Given the description of an element on the screen output the (x, y) to click on. 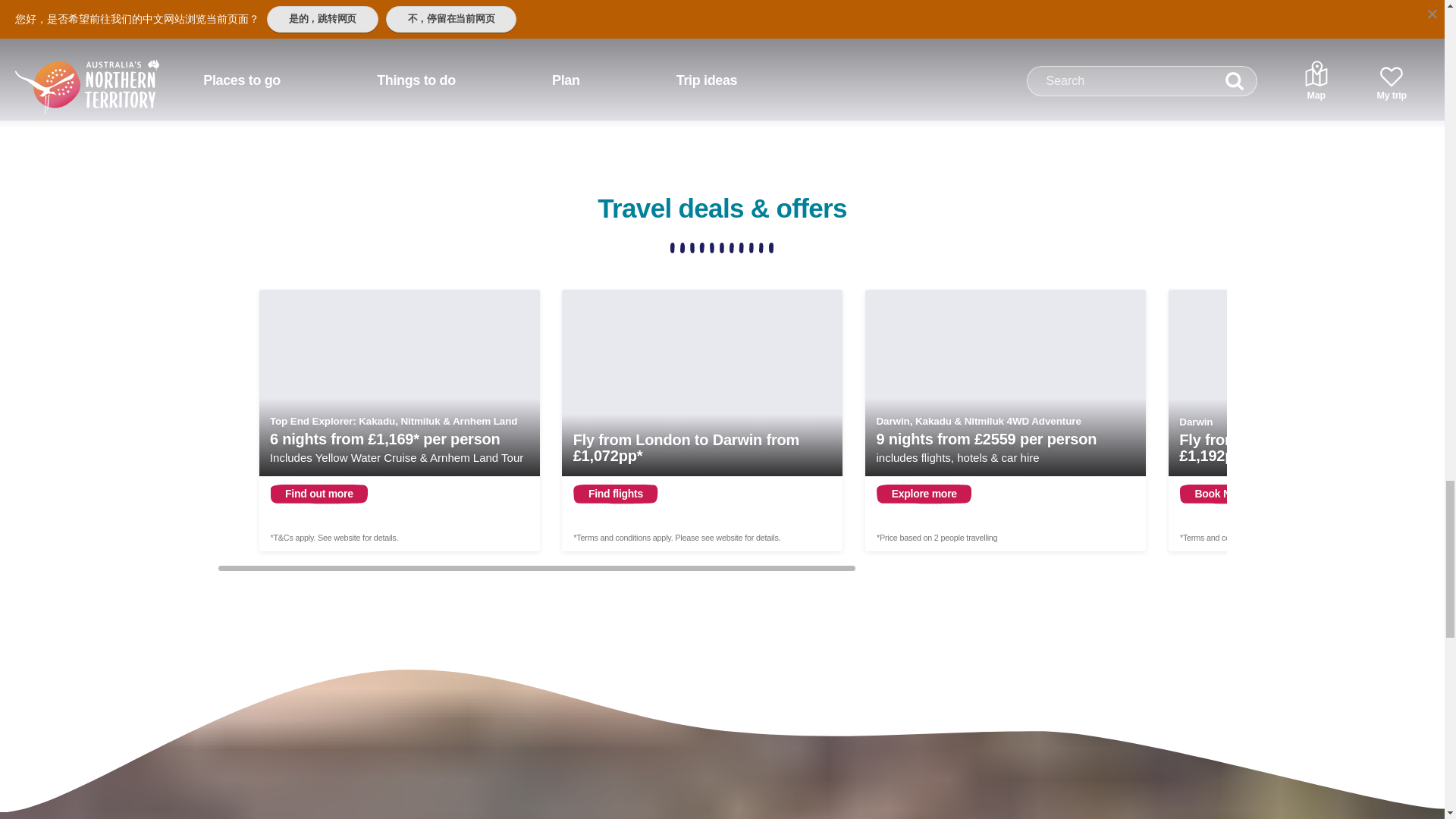
Opens in a new window (702, 420)
Opens in a new window (1004, 420)
Opens in a new window (399, 420)
